Given the description of an element on the screen output the (x, y) to click on. 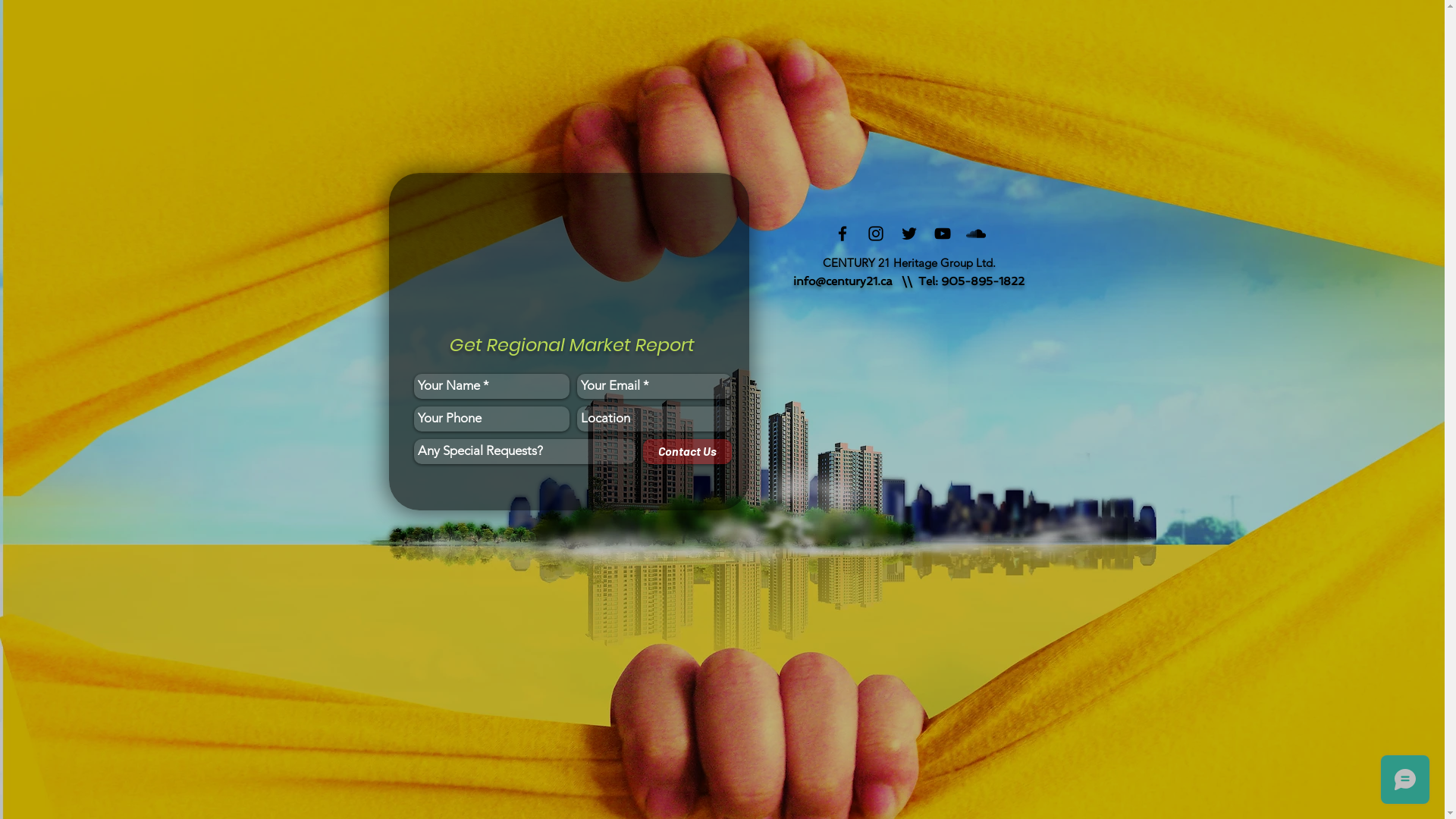
Contact Us Element type: text (687, 450)
Google Maps Element type: hover (909, 420)
info@century21.ca Element type: text (842, 281)
